Given the description of an element on the screen output the (x, y) to click on. 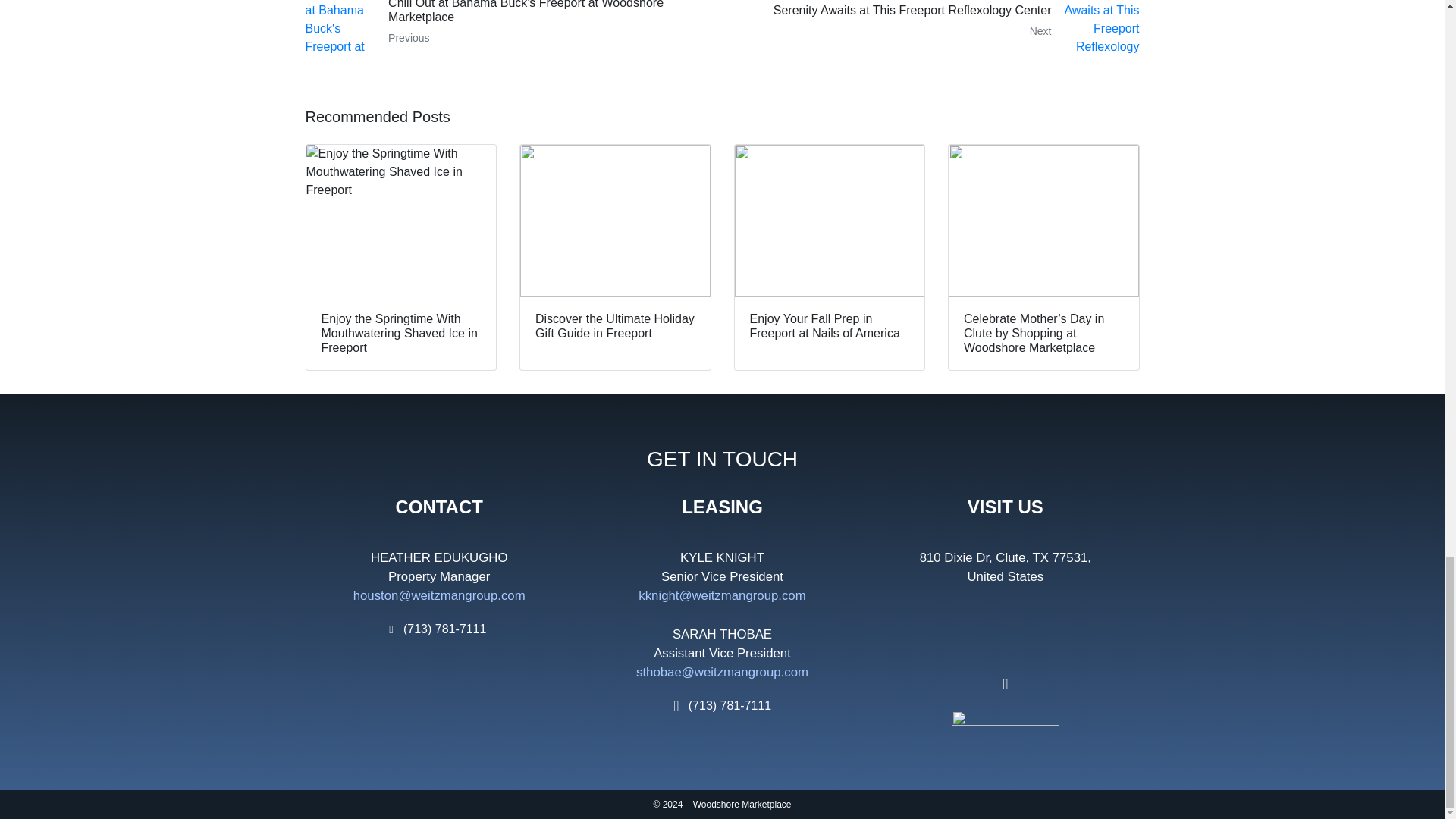
Chill Out at Bahama Buck's Freeport at Woodshore Marketplace (936, 29)
Serenity Awaits at This Freeport Reflexology Center (508, 29)
